Given the description of an element on the screen output the (x, y) to click on. 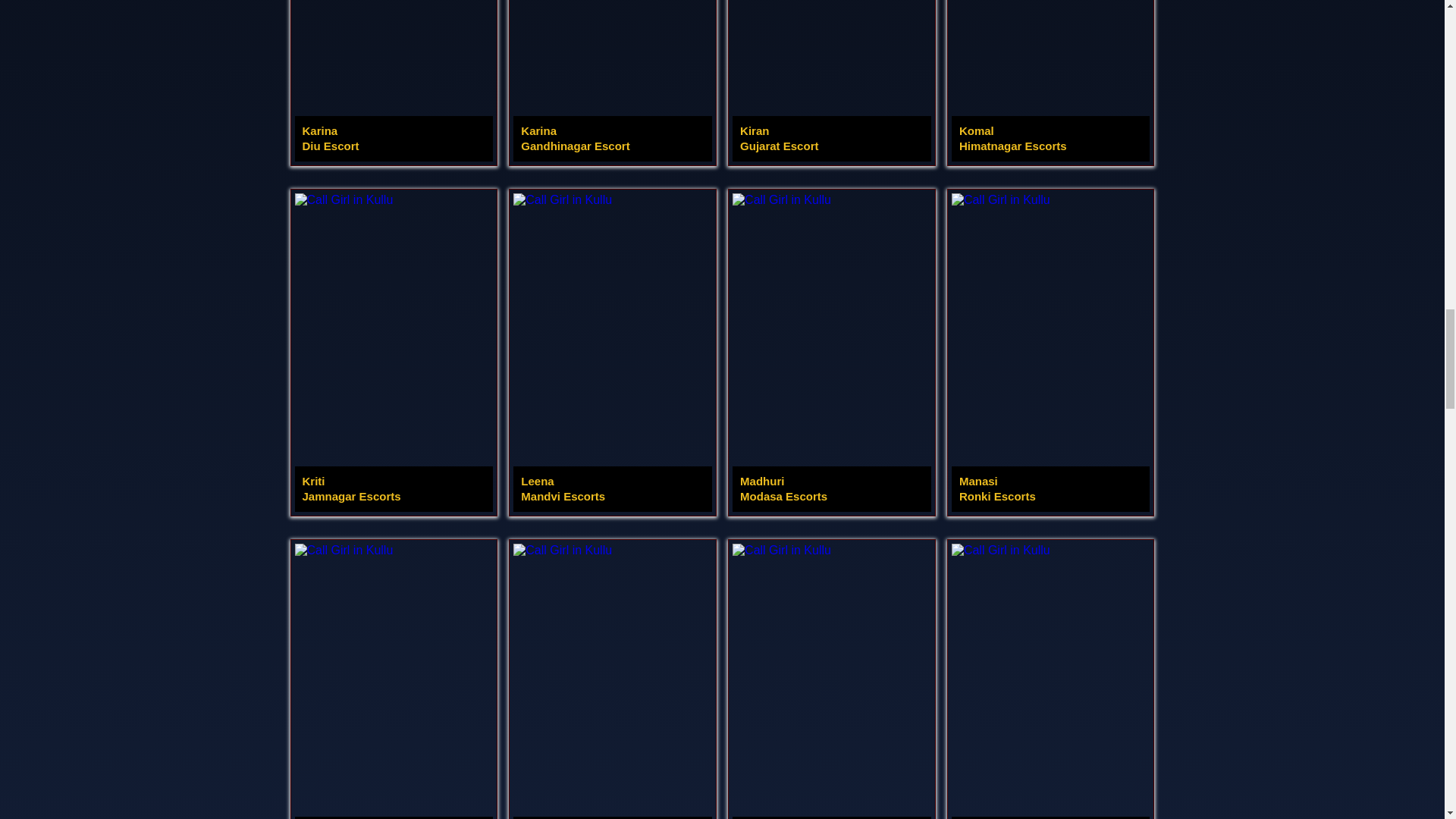
gandhinagar Escorts (612, 352)
diu Escorts (612, 80)
